Given the description of an element on the screen output the (x, y) to click on. 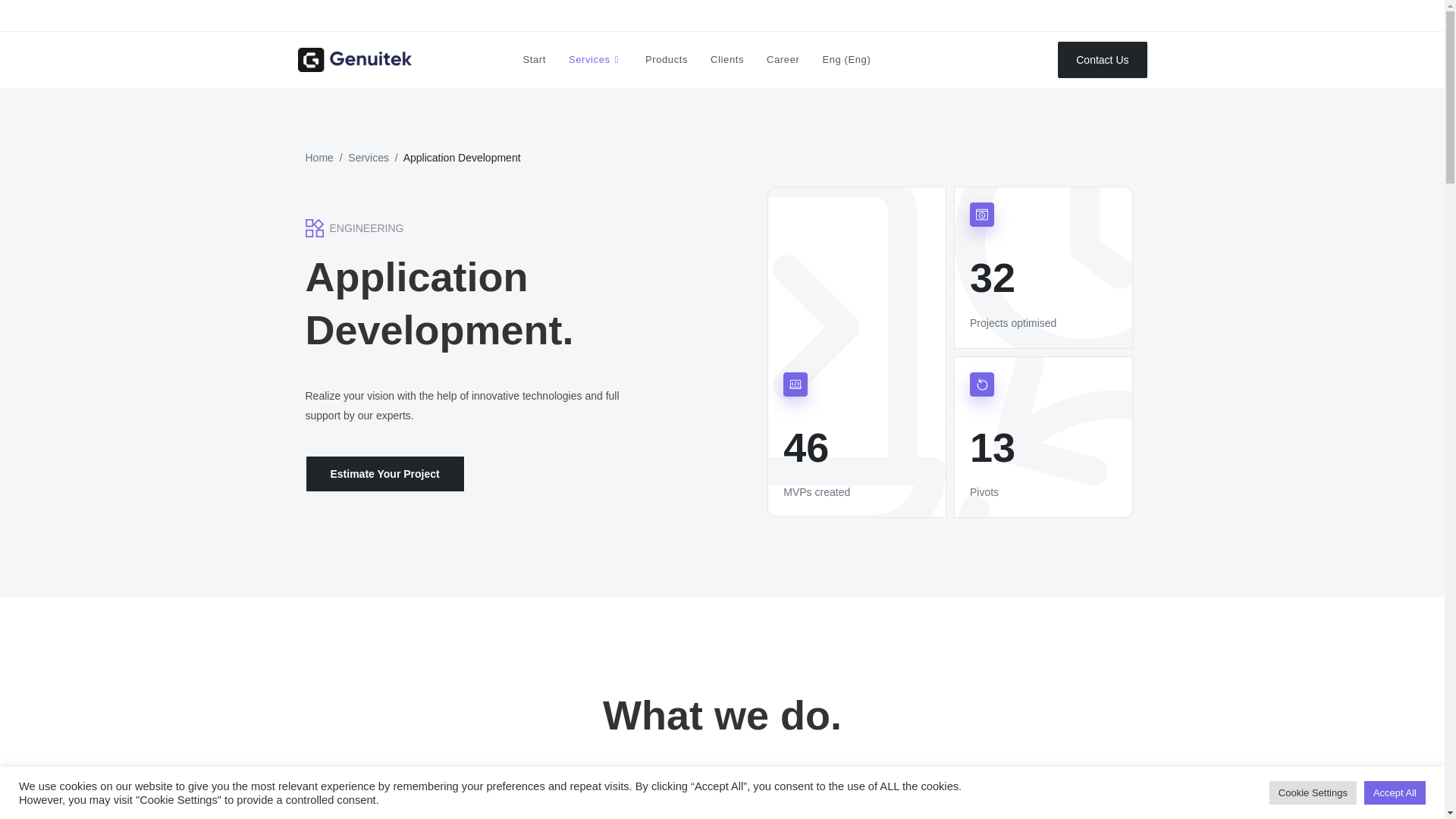
Clients (726, 59)
Career (782, 59)
Eng (846, 59)
Contact Us (1102, 59)
Services (595, 59)
Products (665, 59)
